Given the description of an element on the screen output the (x, y) to click on. 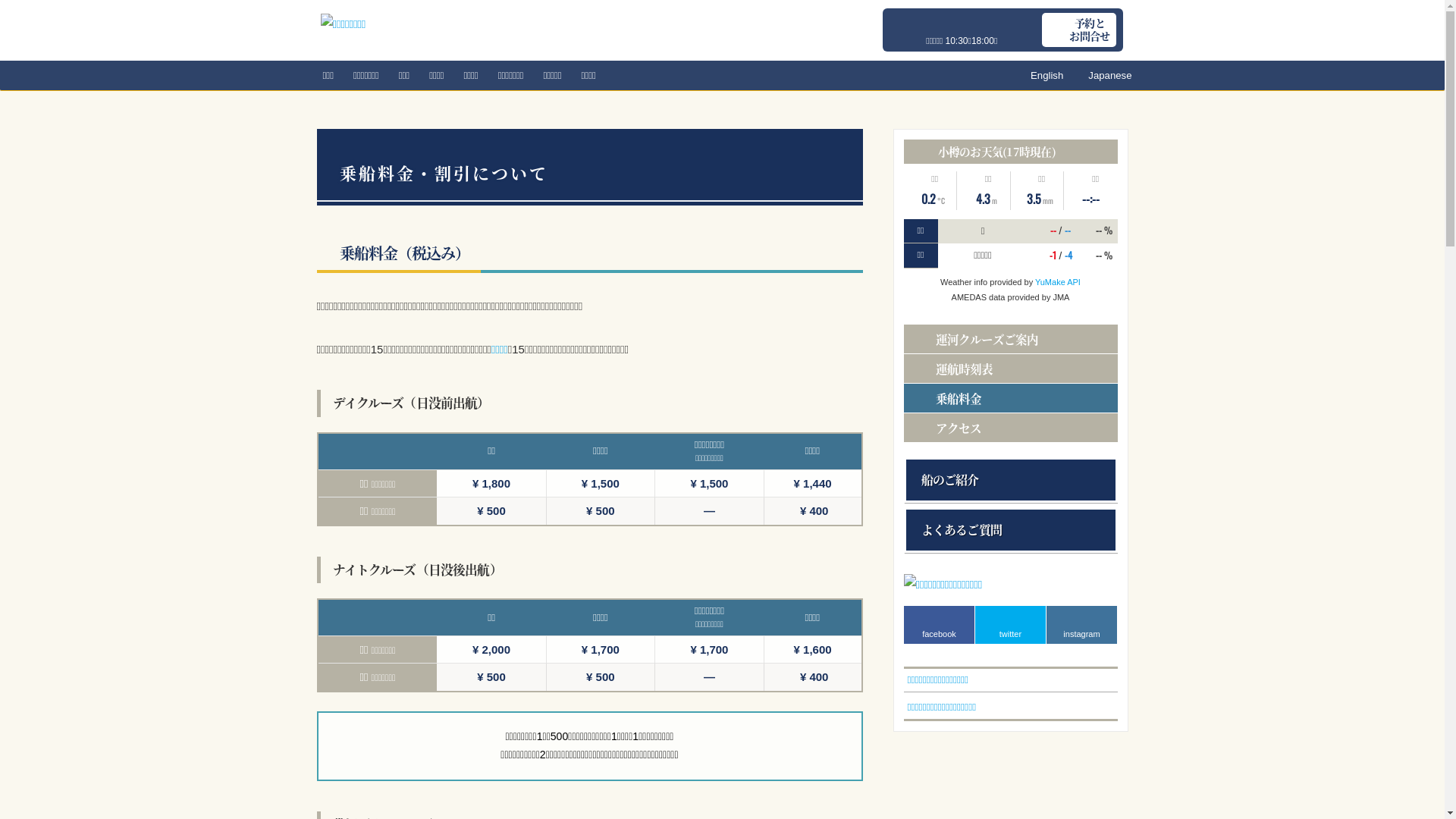
English Element type: text (1038, 75)
YuMake API Element type: text (1057, 281)
twitter Element type: text (1010, 624)
facebook Element type: text (939, 624)
instagram Element type: text (1081, 624)
